Given the description of an element on the screen output the (x, y) to click on. 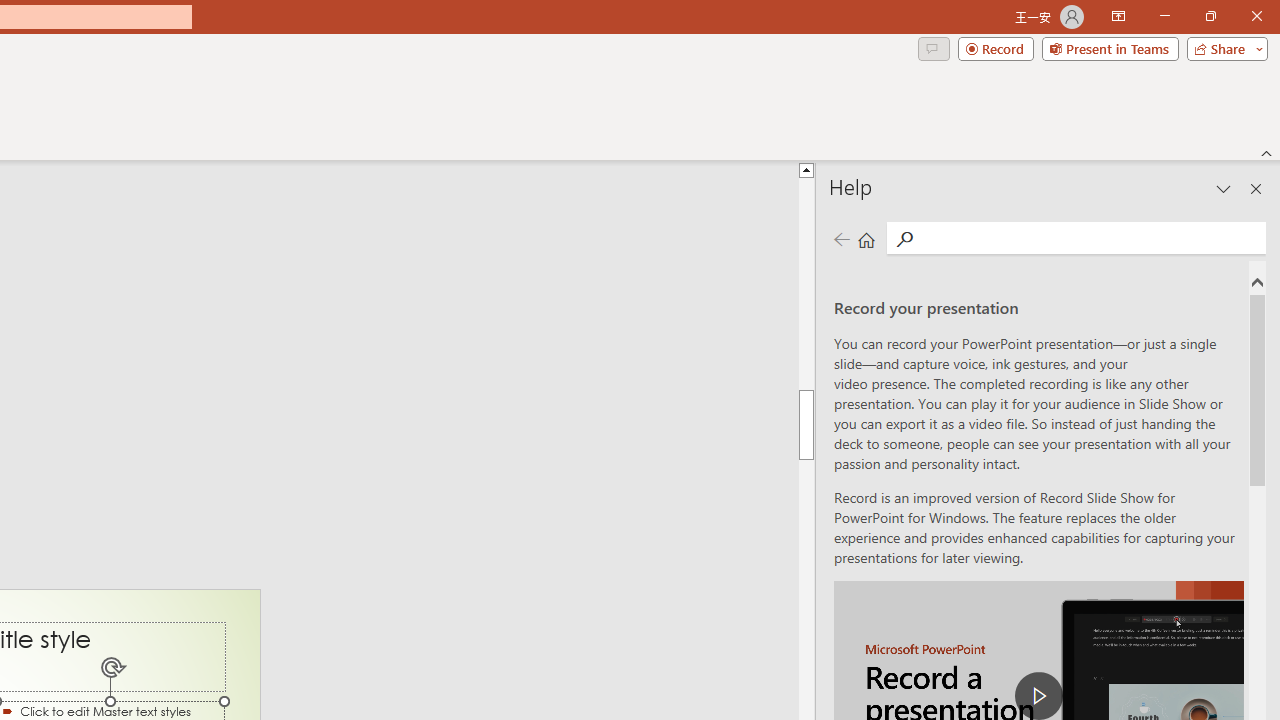
Previous page (841, 238)
Page up (806, 283)
play Record a Presentation (1038, 695)
